Given the description of an element on the screen output the (x, y) to click on. 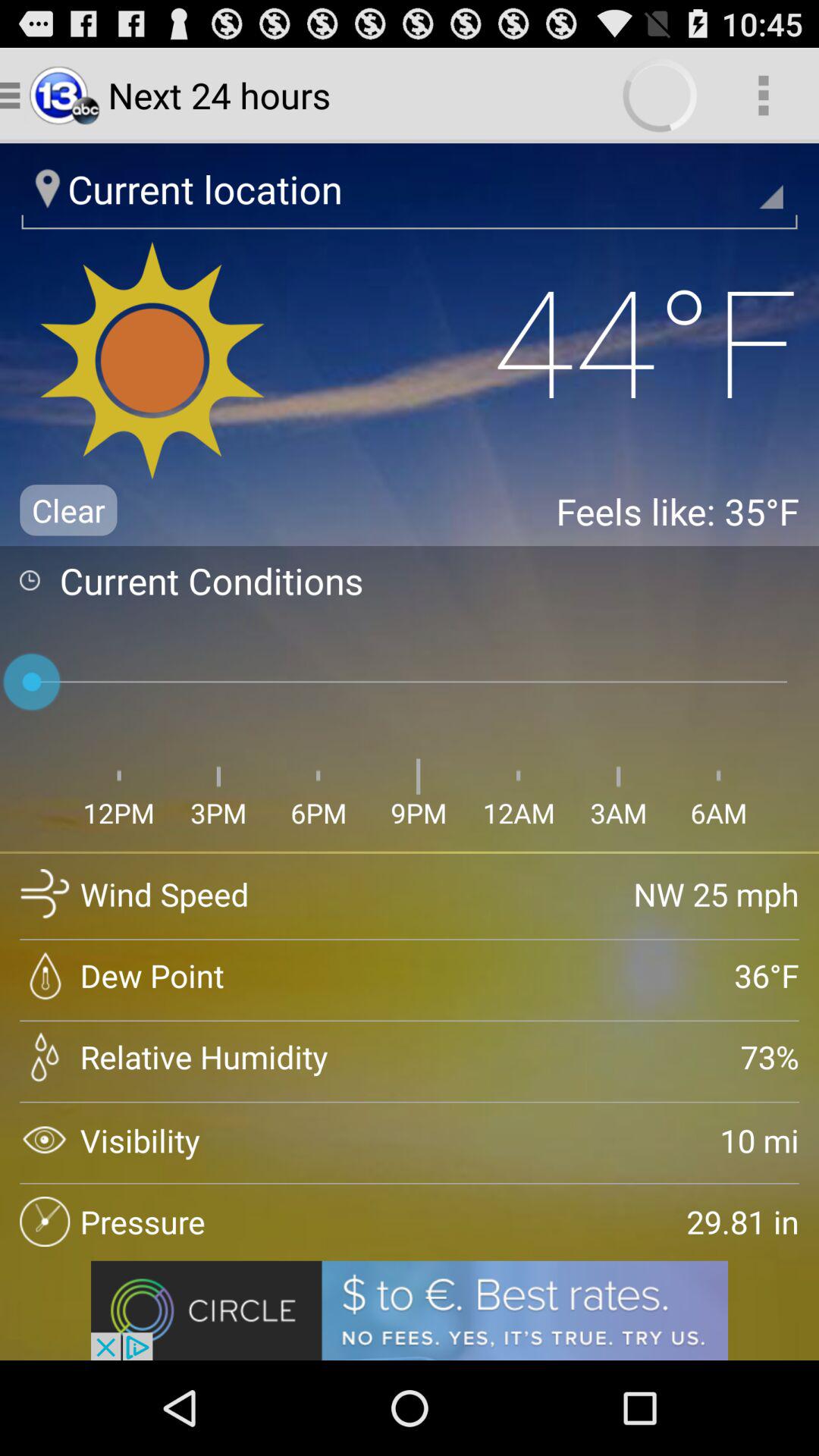
advertising (409, 1310)
